Given the description of an element on the screen output the (x, y) to click on. 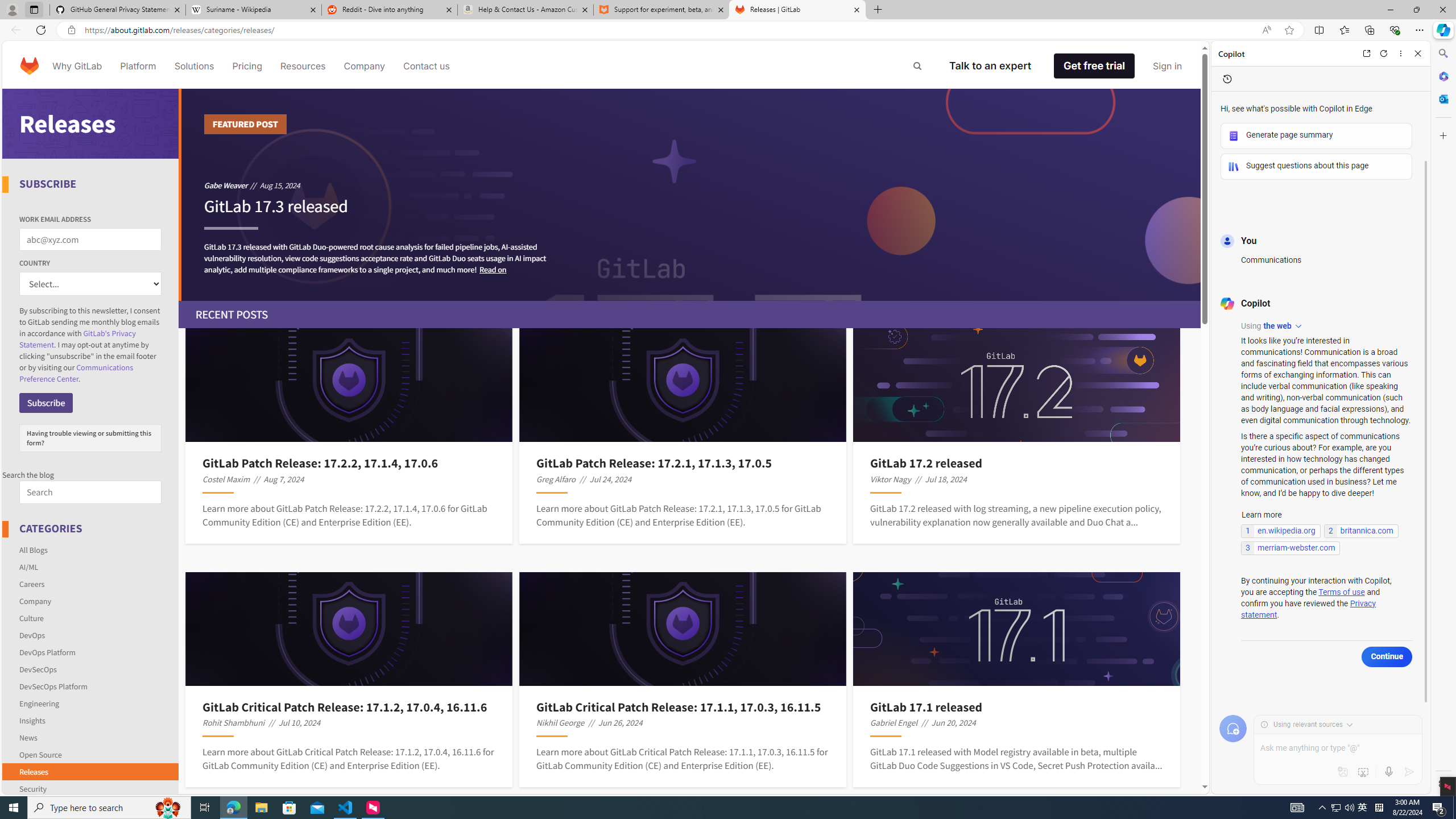
Costel Maxim (226, 478)
Nikhil George (560, 722)
GitLab home page (29, 65)
Viktor Nagy (890, 478)
GitLab Patch Release: 17.2.2, 17.1.4, 17.0.6 (349, 463)
AI/ML (28, 566)
Company (90, 600)
AI/ML (90, 566)
